Given the description of an element on the screen output the (x, y) to click on. 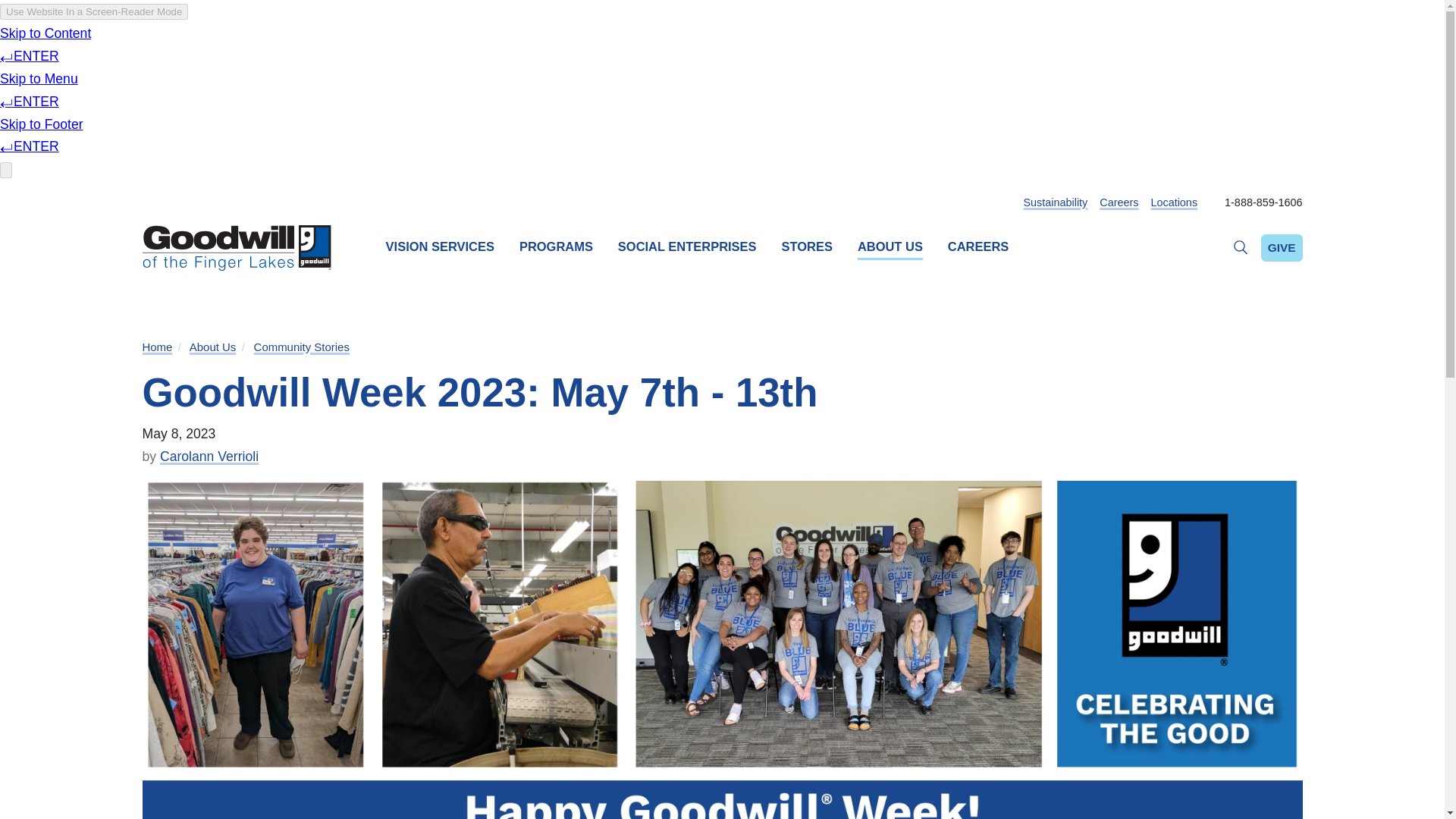
PROGRAMS (555, 248)
Locations (1173, 202)
Sustainability (1055, 202)
SOCIAL ENTERPRISES (687, 248)
Careers (1118, 202)
STORES (806, 248)
VISION SERVICES (440, 248)
ABOUT US (890, 248)
